Given the description of an element on the screen output the (x, y) to click on. 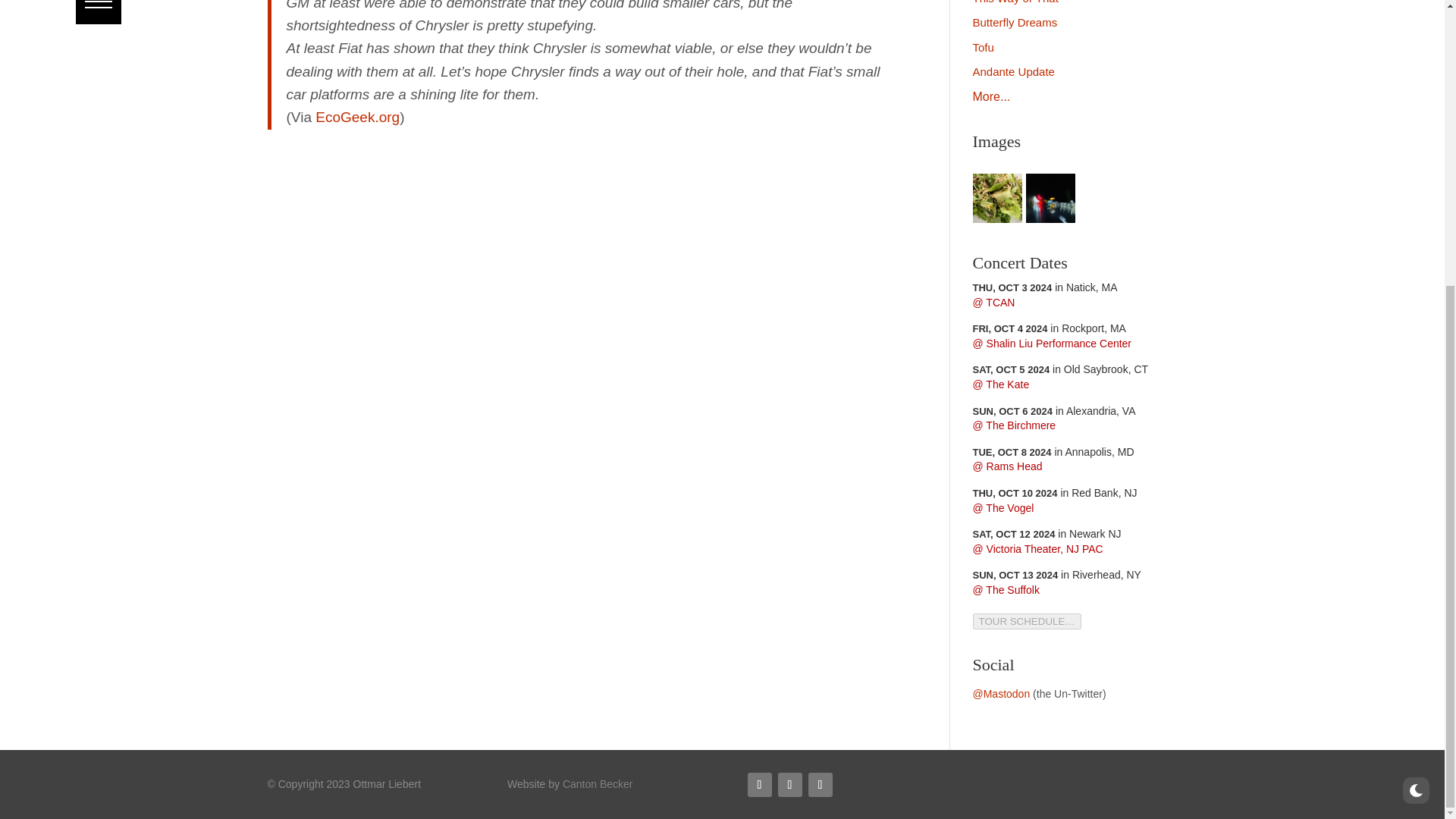
More... (991, 96)
Follow on Bandcamp (820, 784)
THU, OCT 3 2024 in Natick, MA (1044, 287)
Follow on Odnoklassniki (789, 784)
FRI, OCT 4 2024 in Rockport, MA (1048, 328)
Tofu (982, 47)
Butterfly Dreams (1014, 21)
Andante Update (1013, 71)
Follow on RSS (759, 784)
This Way or That (1015, 2)
EcoGeek.org (356, 116)
